Given the description of an element on the screen output the (x, y) to click on. 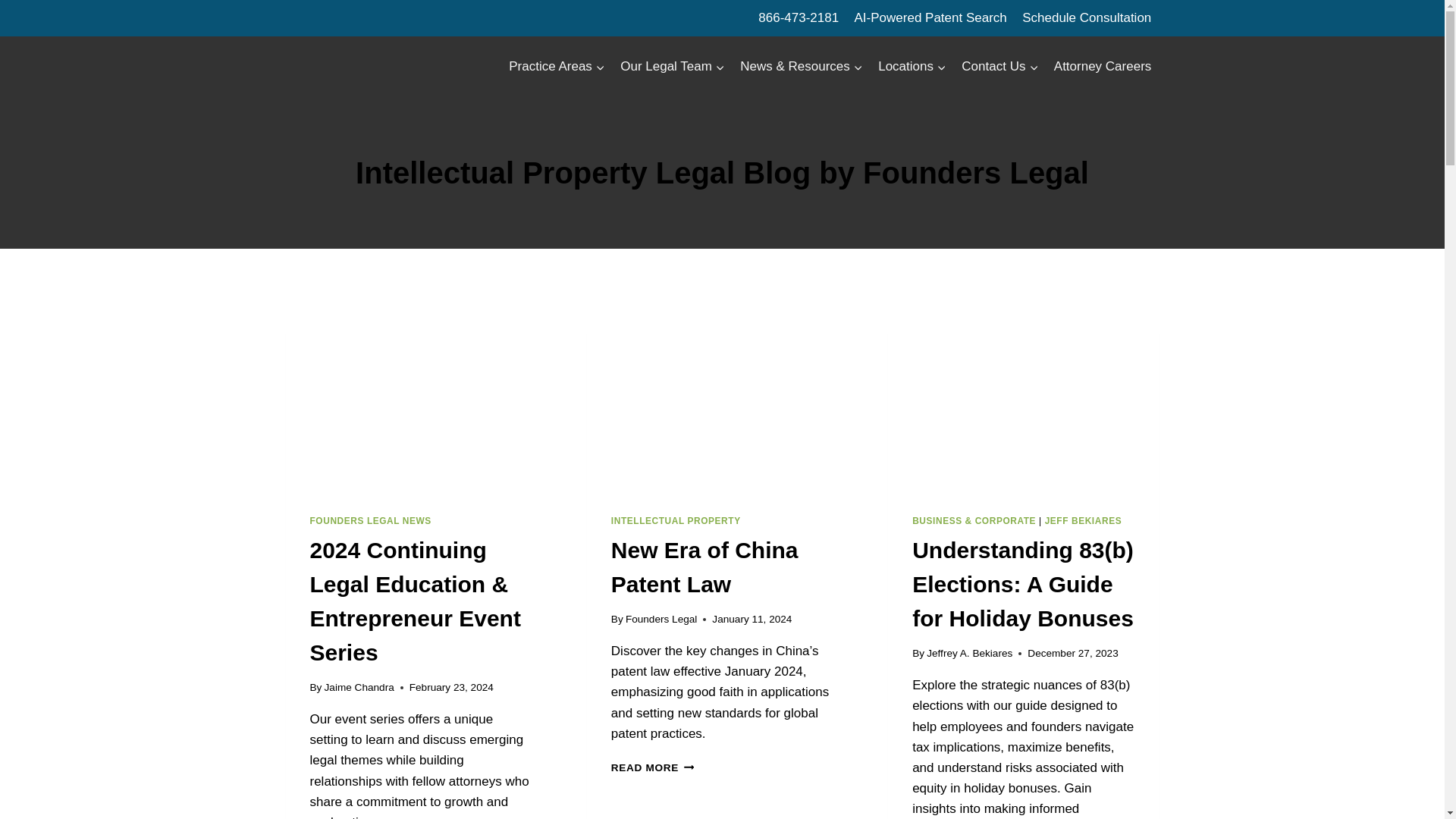
Practice Areas (556, 66)
866-473-2181 (798, 18)
Our Legal Team (672, 66)
AI-Powered Patent Search (929, 18)
Schedule Consultation (1086, 18)
